Given the description of an element on the screen output the (x, y) to click on. 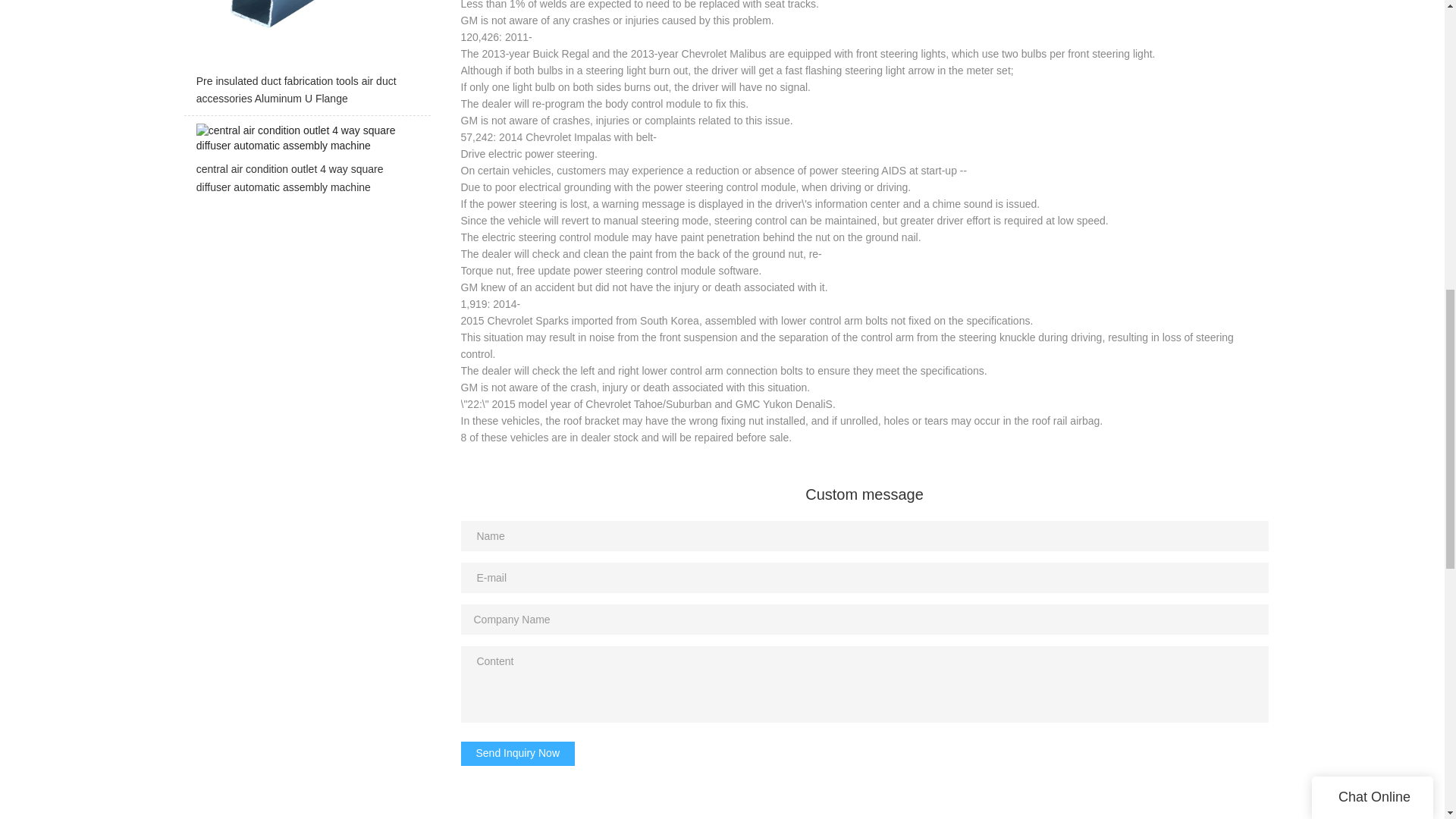
Send Inquiry Now (518, 753)
